Given the description of an element on the screen output the (x, y) to click on. 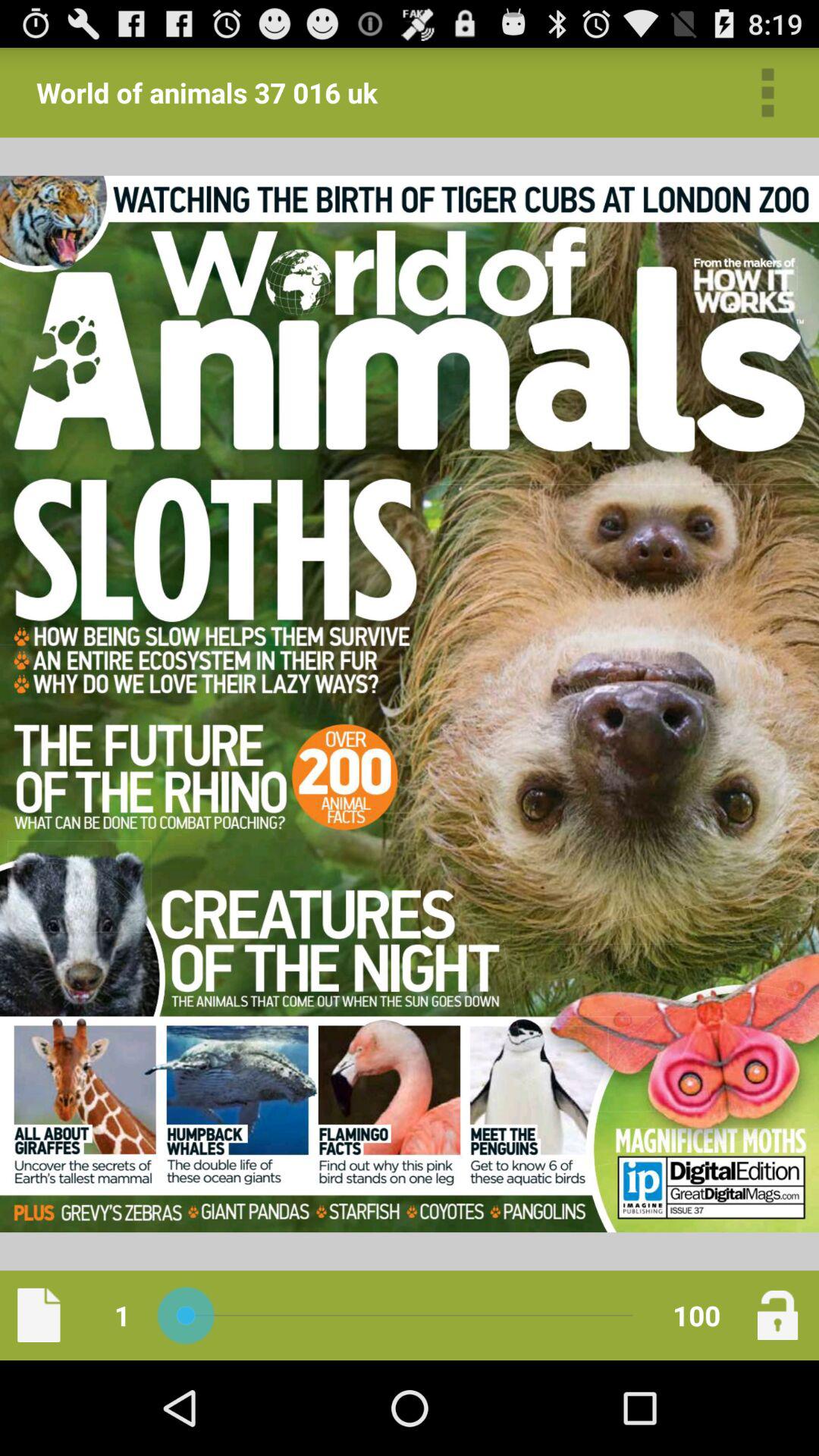
select icon to the left of 1 item (38, 1315)
